Given the description of an element on the screen output the (x, y) to click on. 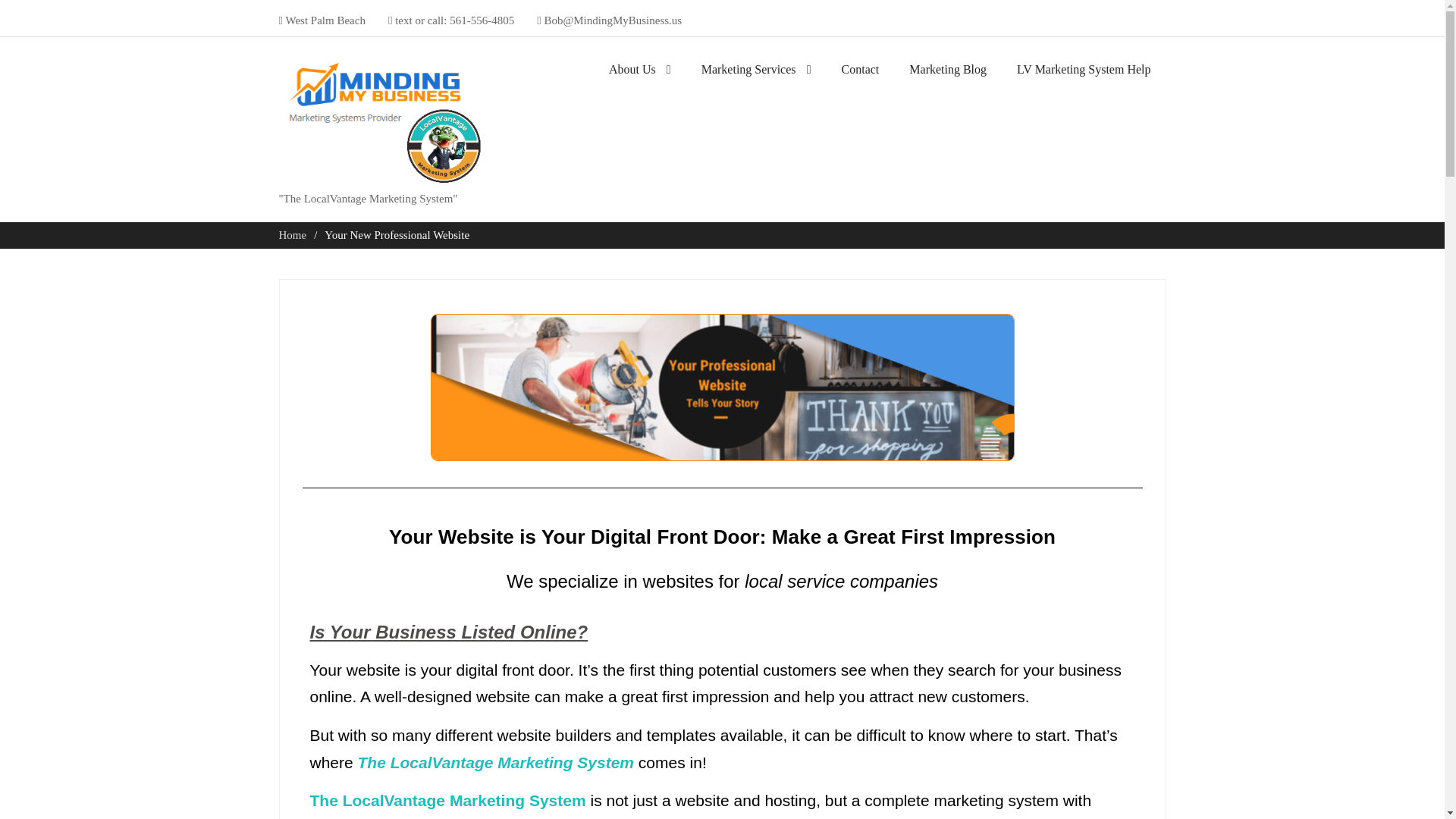
Contact (860, 73)
Marketing Blog (947, 73)
LV Marketing System Help (1083, 73)
About Us (639, 73)
Marketing Services (756, 73)
Home (293, 234)
